Given the description of an element on the screen output the (x, y) to click on. 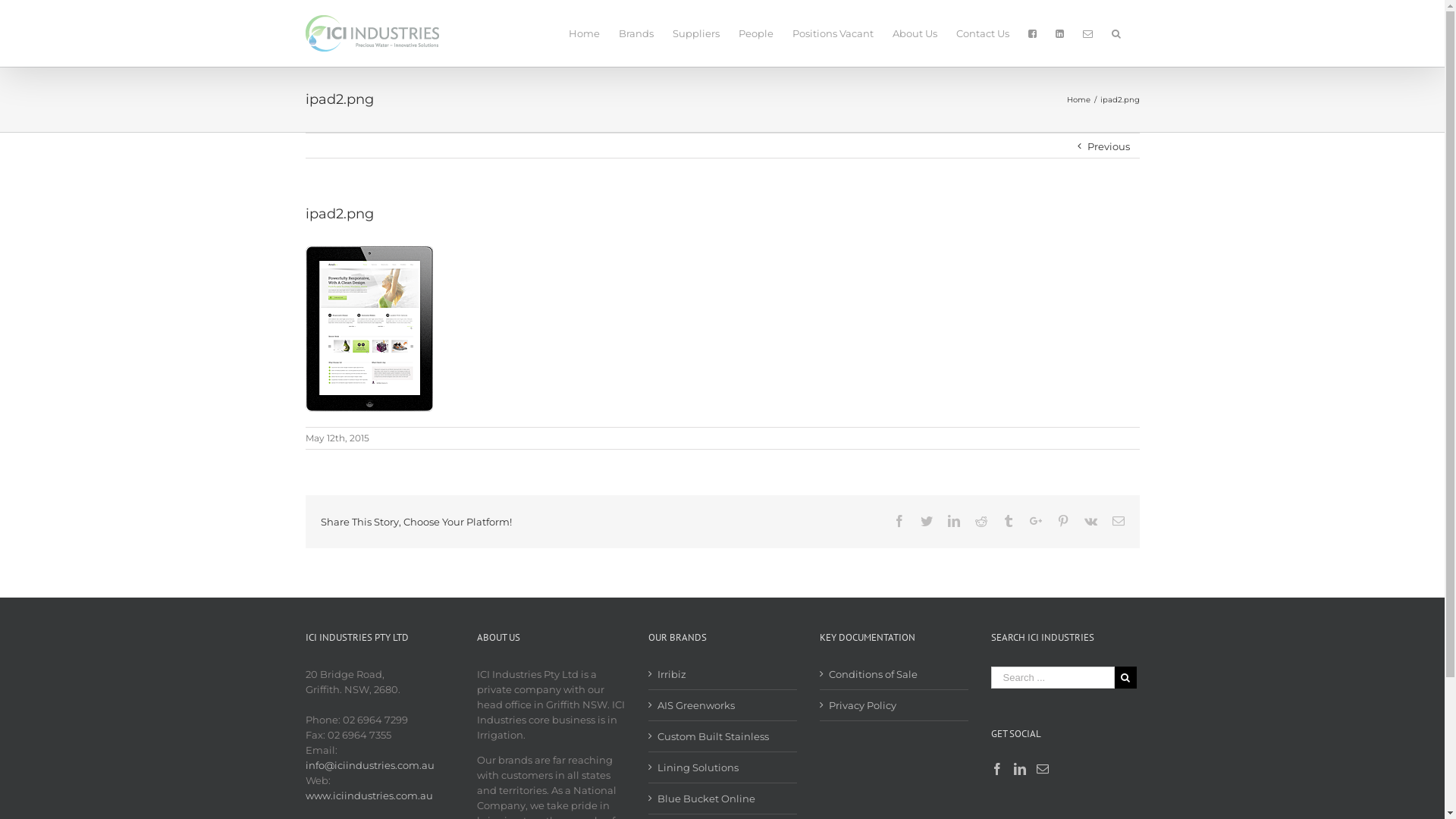
Blue Bucket Online Element type: text (722, 798)
Positions Vacant Element type: text (831, 32)
Email Element type: text (1117, 520)
www.iciindustries.com.au Element type: text (368, 795)
Google+ Element type: text (1035, 520)
About Us Element type: text (913, 32)
People Element type: text (755, 32)
Previous Element type: text (1108, 146)
info@iciindustries.com.au Element type: text (368, 765)
Home Element type: text (583, 32)
Brands Element type: text (635, 32)
Search Element type: hover (1115, 32)
AIS Greenworks Element type: text (722, 704)
Pinterest Element type: text (1063, 520)
Irribiz Element type: text (722, 673)
Reddit Element type: text (981, 520)
Suppliers Element type: text (694, 32)
Tumblr Element type: text (1008, 520)
Facebook Element type: text (899, 520)
Linkedin Element type: text (953, 520)
Twitter Element type: text (926, 520)
Home Element type: text (1077, 99)
Custom Built Stainless Element type: text (722, 735)
Conditions of Sale Element type: text (894, 673)
Contact Us Element type: text (981, 32)
Lining Solutions Element type: text (722, 767)
Privacy Policy Element type: text (894, 704)
Vk Element type: text (1090, 520)
